Given the description of an element on the screen output the (x, y) to click on. 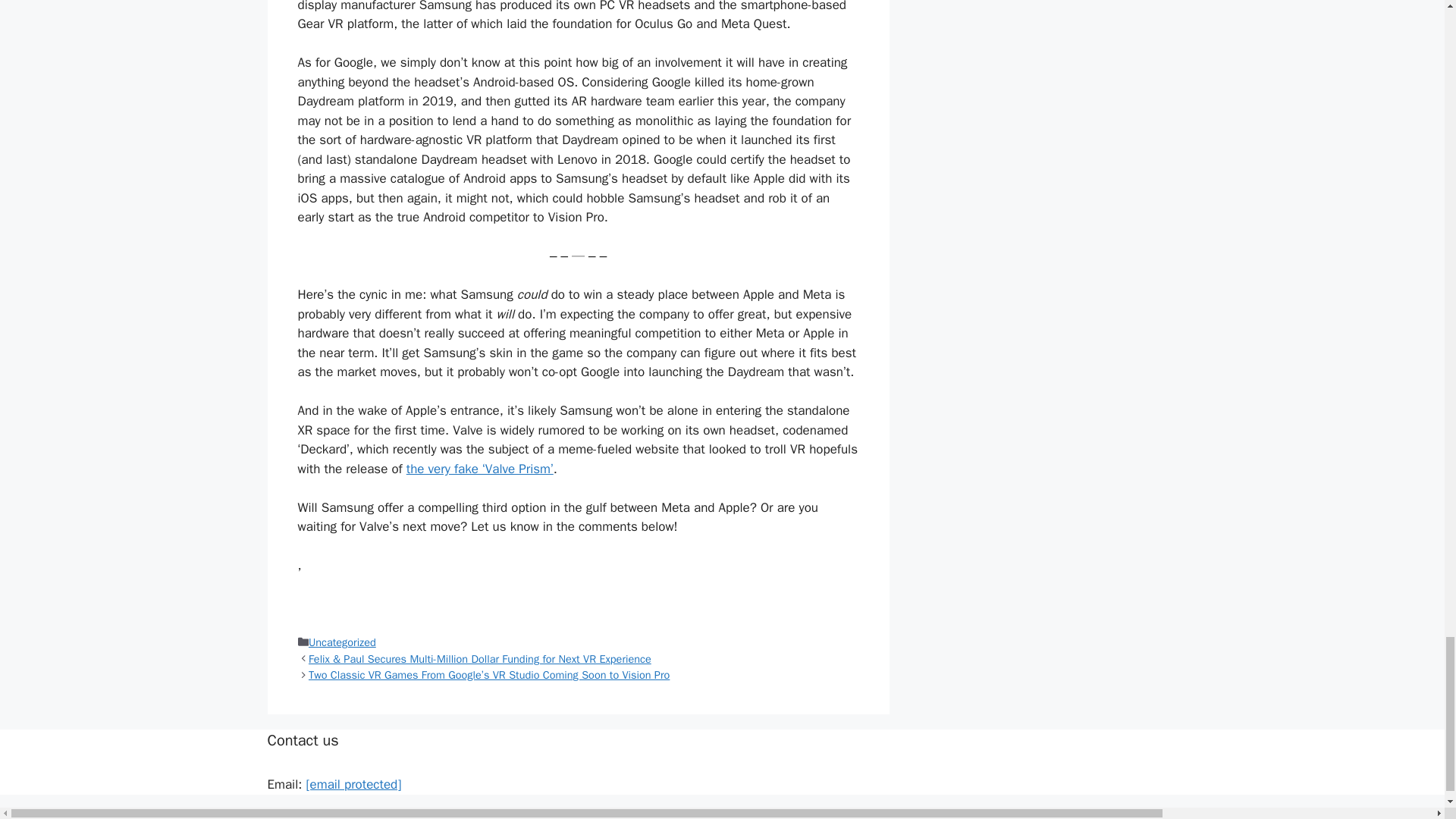
Uncategorized (341, 642)
